Given the description of an element on the screen output the (x, y) to click on. 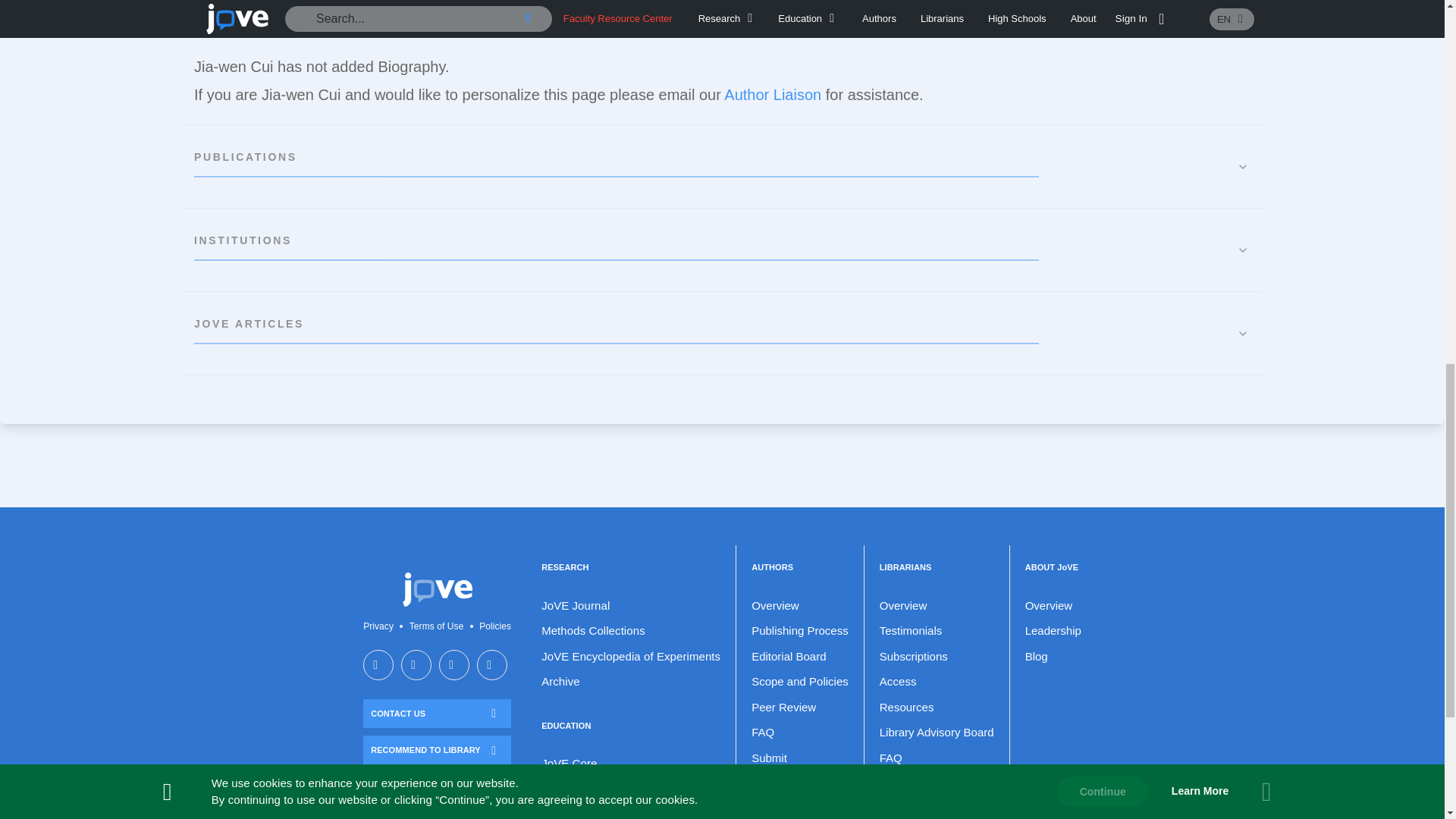
PUBLICATIONS (722, 166)
BIOGRAPHY (722, 23)
Author Liaison (772, 94)
